Given the description of an element on the screen output the (x, y) to click on. 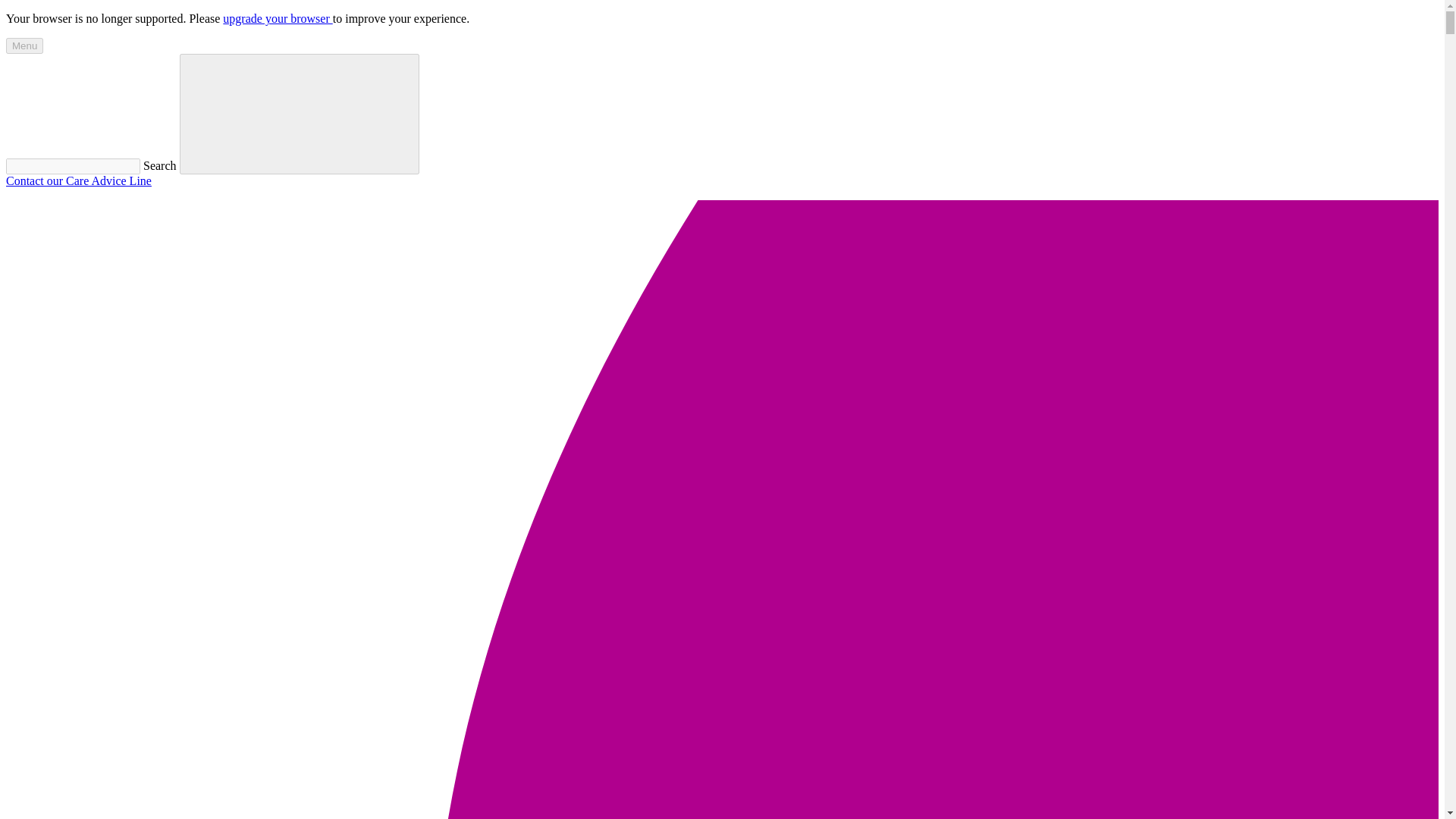
Menu (24, 45)
upgrade your browser (276, 18)
Contact our Care Advice Line (78, 180)
